Given the description of an element on the screen output the (x, y) to click on. 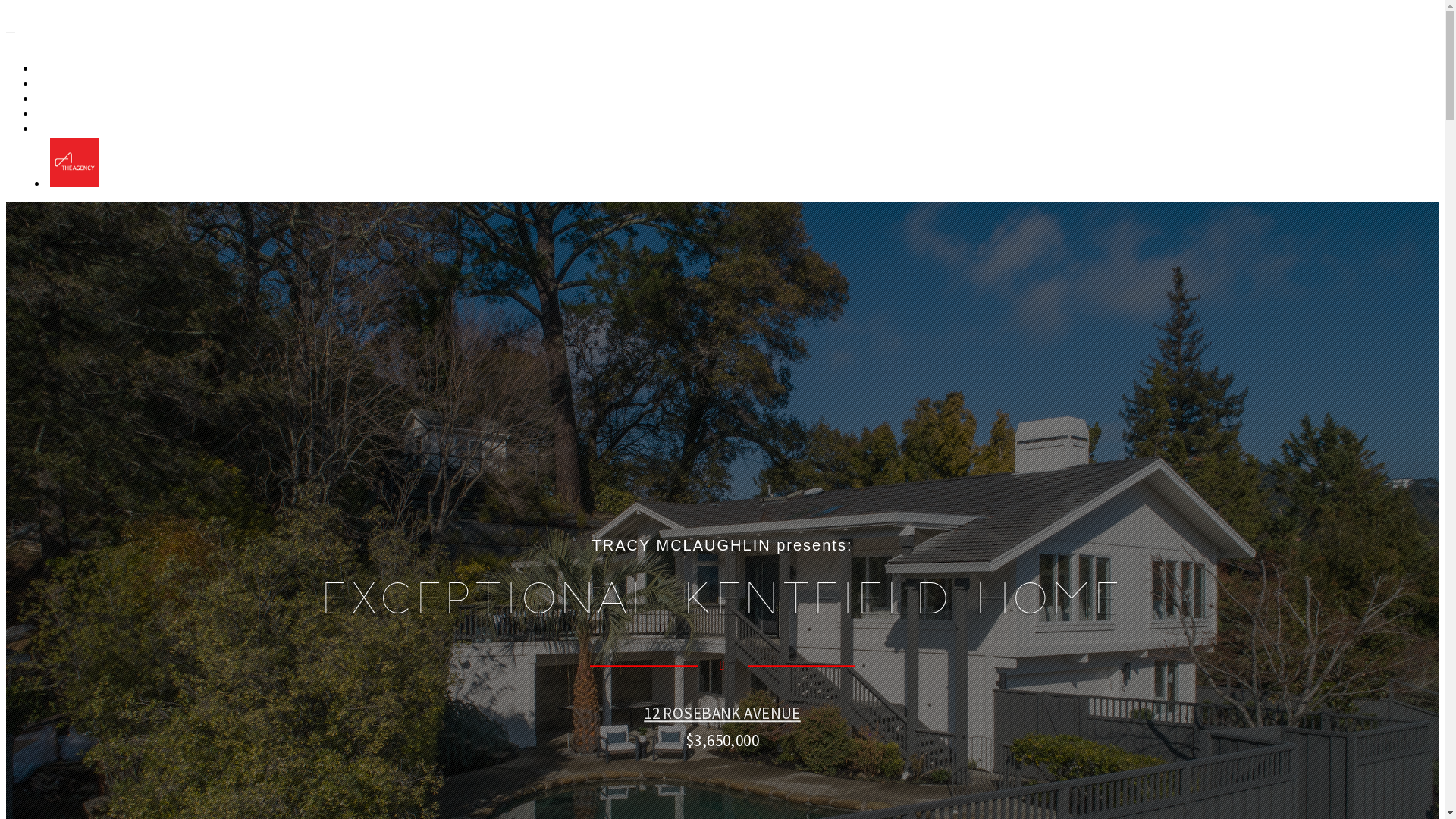
FEATURES Element type: text (70, 98)
12 ROSEBANK AVENUE Element type: text (721, 712)
SCHEDULE & CONTACT Element type: text (100, 129)
Toggle navigation Element type: text (10, 32)
LOCATION Element type: text (70, 113)
12 Rosebank Avenue Element type: text (120, 28)
GALLERY Element type: text (66, 68)
FLOOR PLANS Element type: text (78, 83)
